Given the description of an element on the screen output the (x, y) to click on. 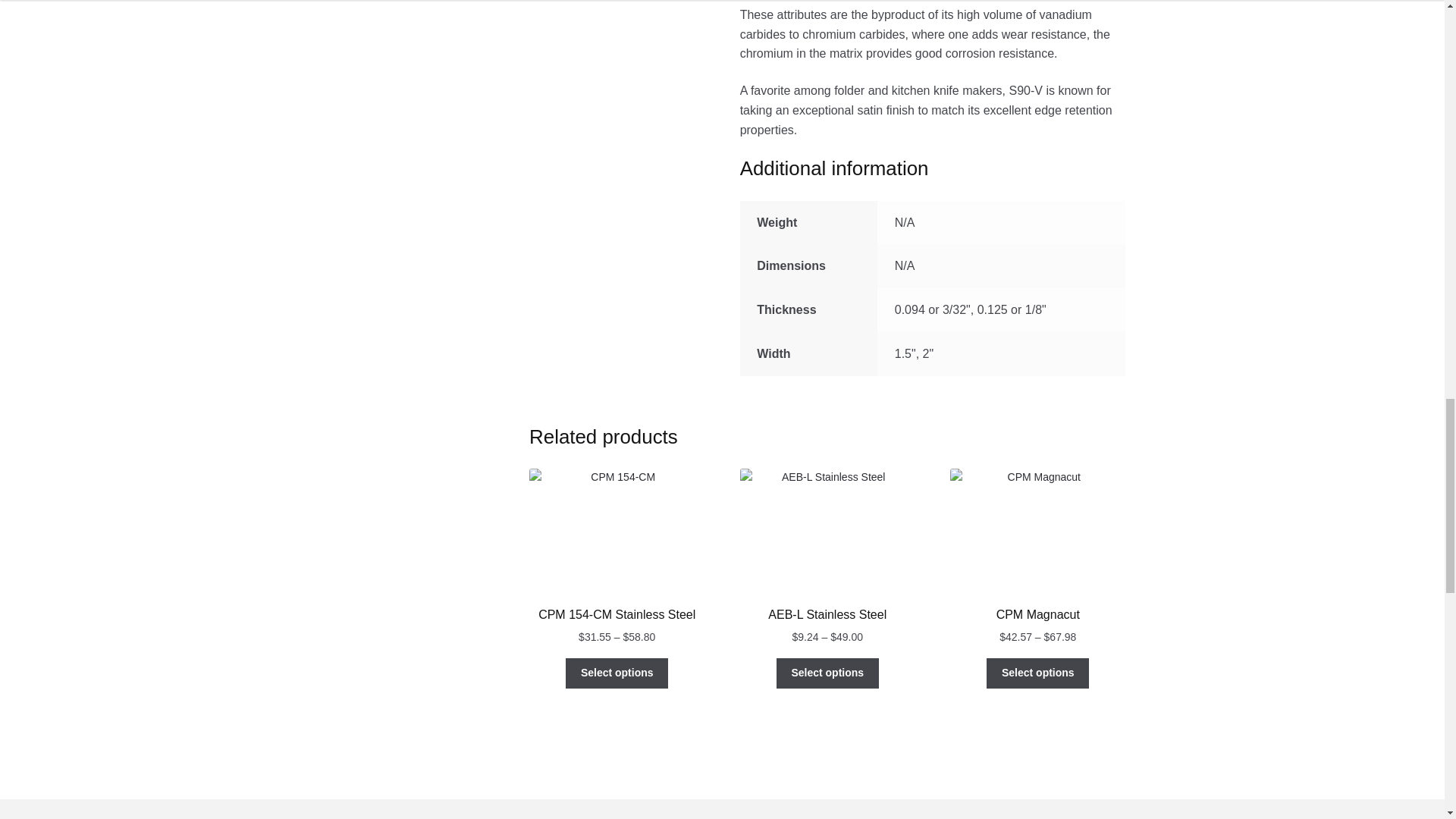
Select options (1038, 673)
Select options (617, 673)
Select options (827, 673)
